Given the description of an element on the screen output the (x, y) to click on. 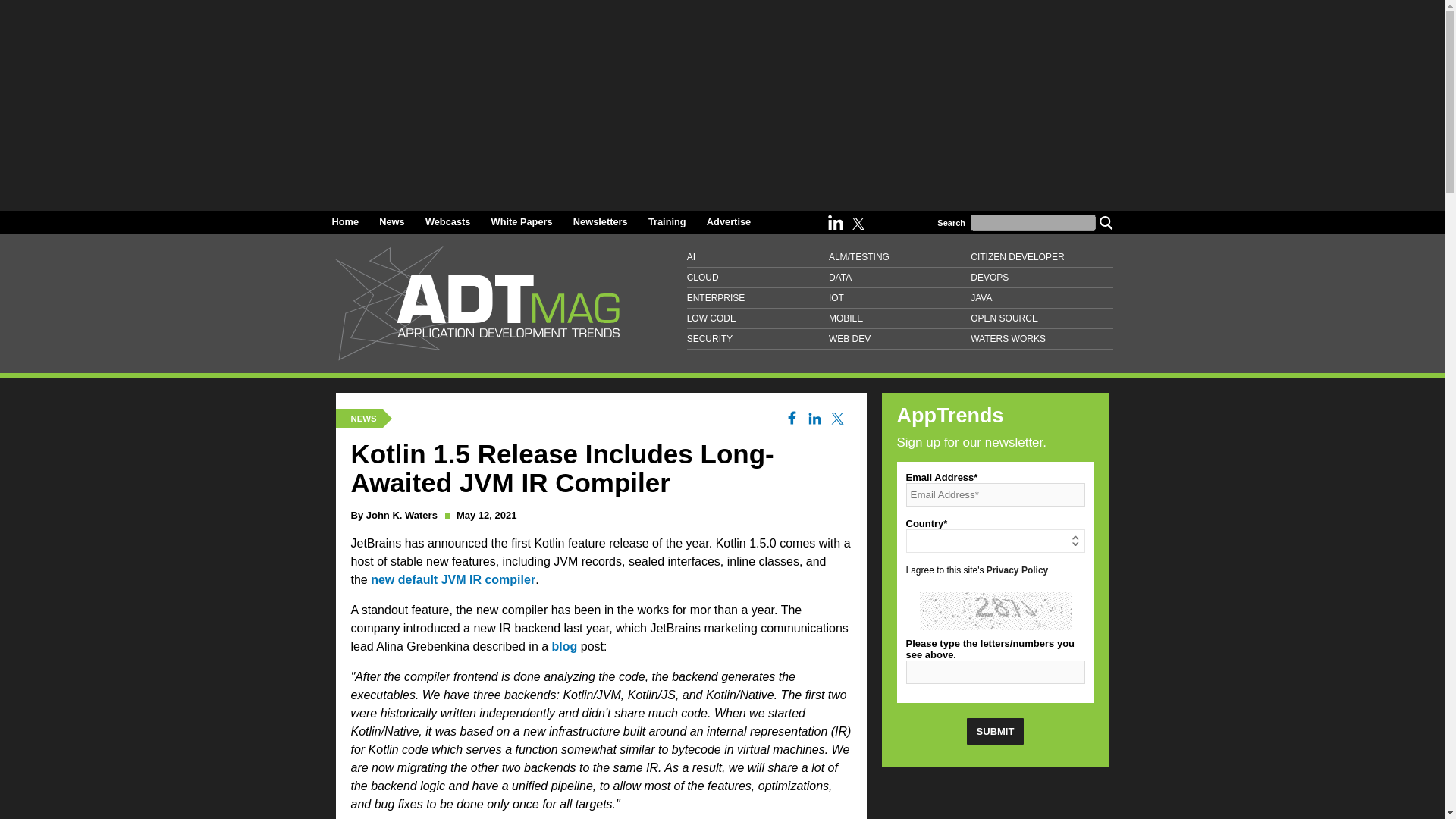
blog (564, 645)
Newsletters (600, 221)
DEVOPS (1041, 277)
Advertise (728, 221)
SECURITY (757, 339)
Search (1106, 222)
CLOUD (757, 277)
IOT (899, 298)
WEB DEV (899, 339)
